Given the description of an element on the screen output the (x, y) to click on. 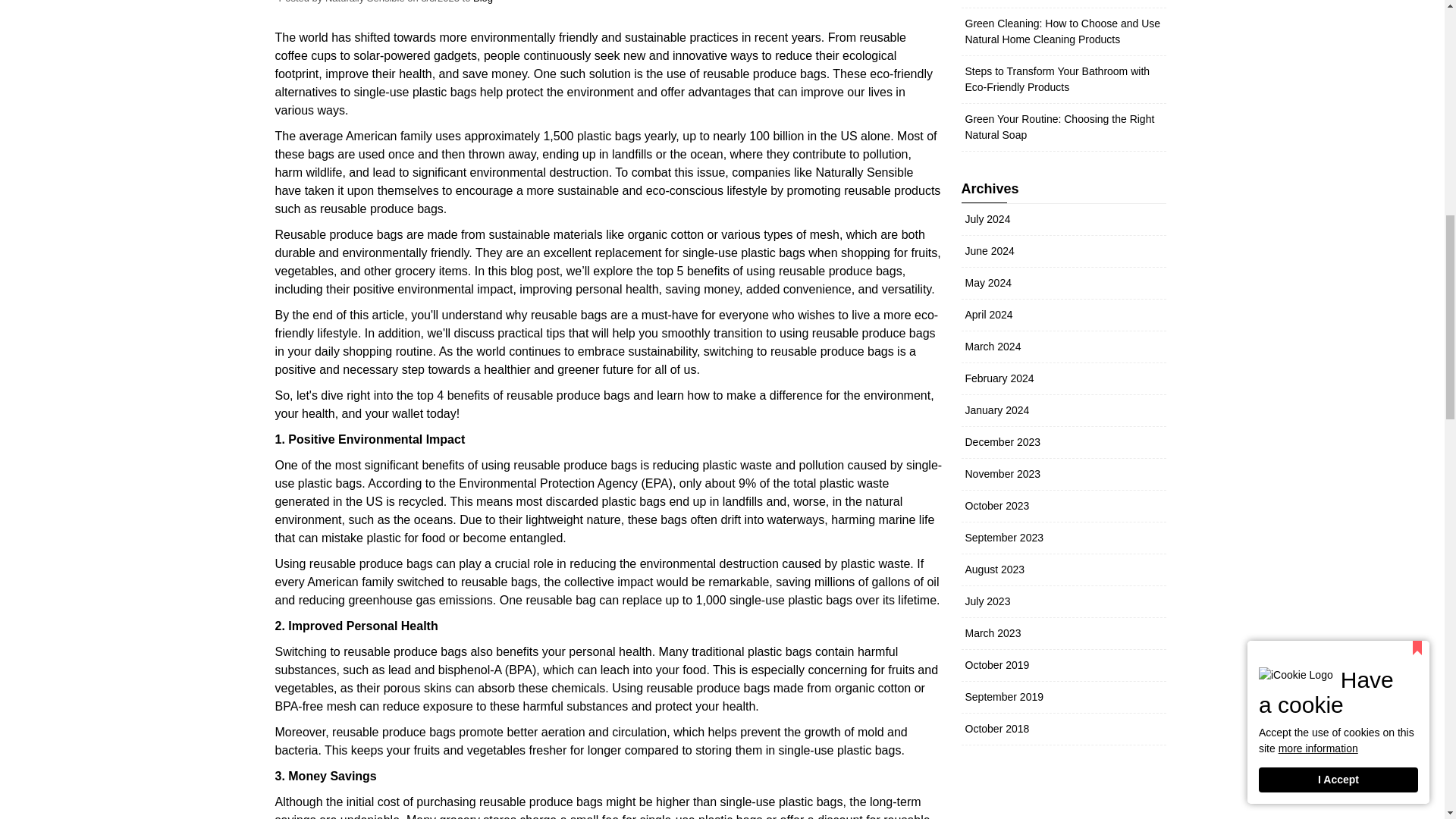
Blog (483, 2)
July 2024 (986, 218)
Green Your Routine: Choosing the Right Natural Soap (1058, 126)
Steps to Transform Your Bathroom with Eco-Friendly Products (1056, 79)
